Given the description of an element on the screen output the (x, y) to click on. 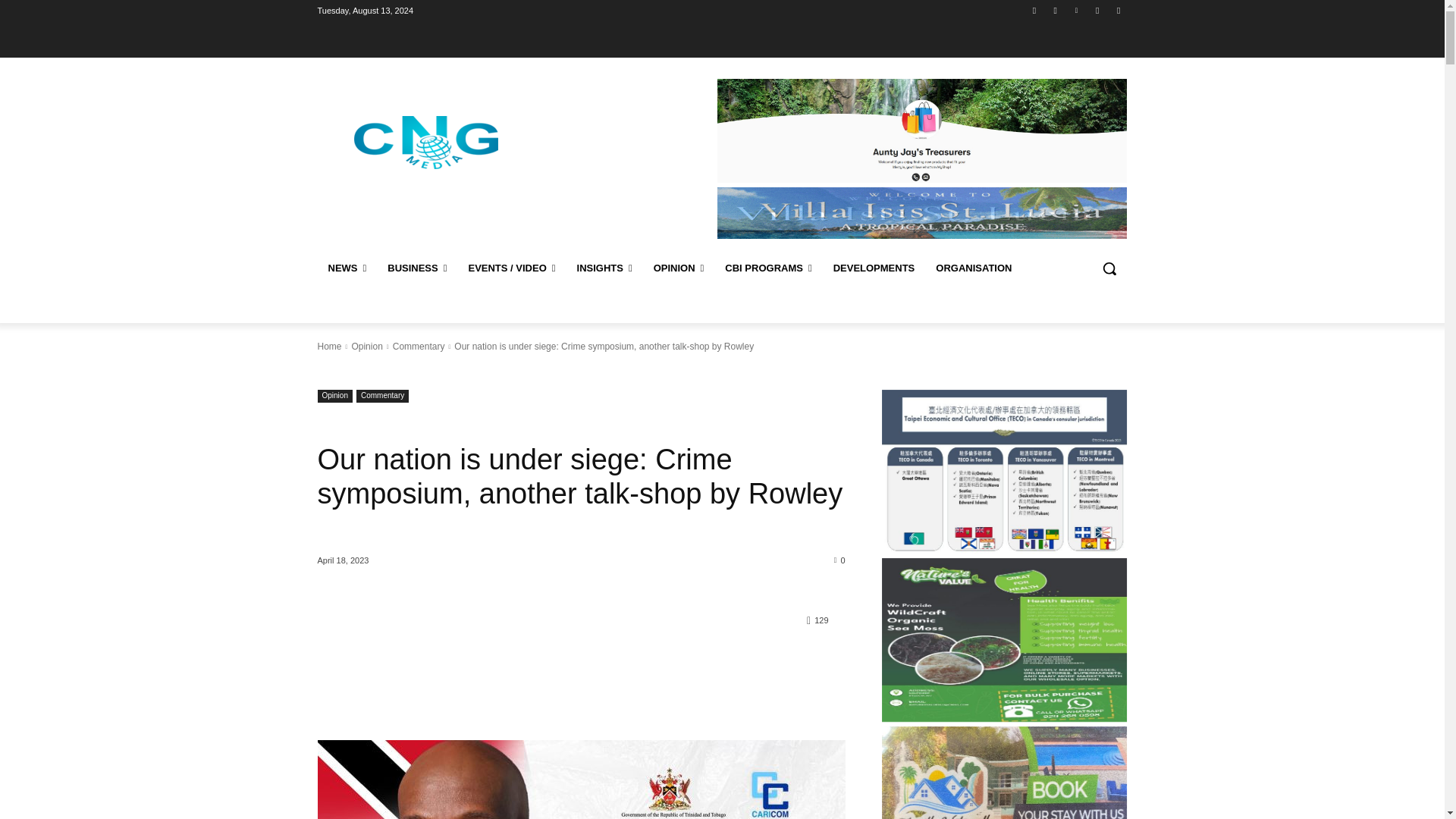
Youtube (1117, 9)
Instagram (1055, 9)
NEWS (347, 268)
Facebook (1034, 9)
Linkedin (1075, 9)
Twitter (1097, 9)
